Given the description of an element on the screen output the (x, y) to click on. 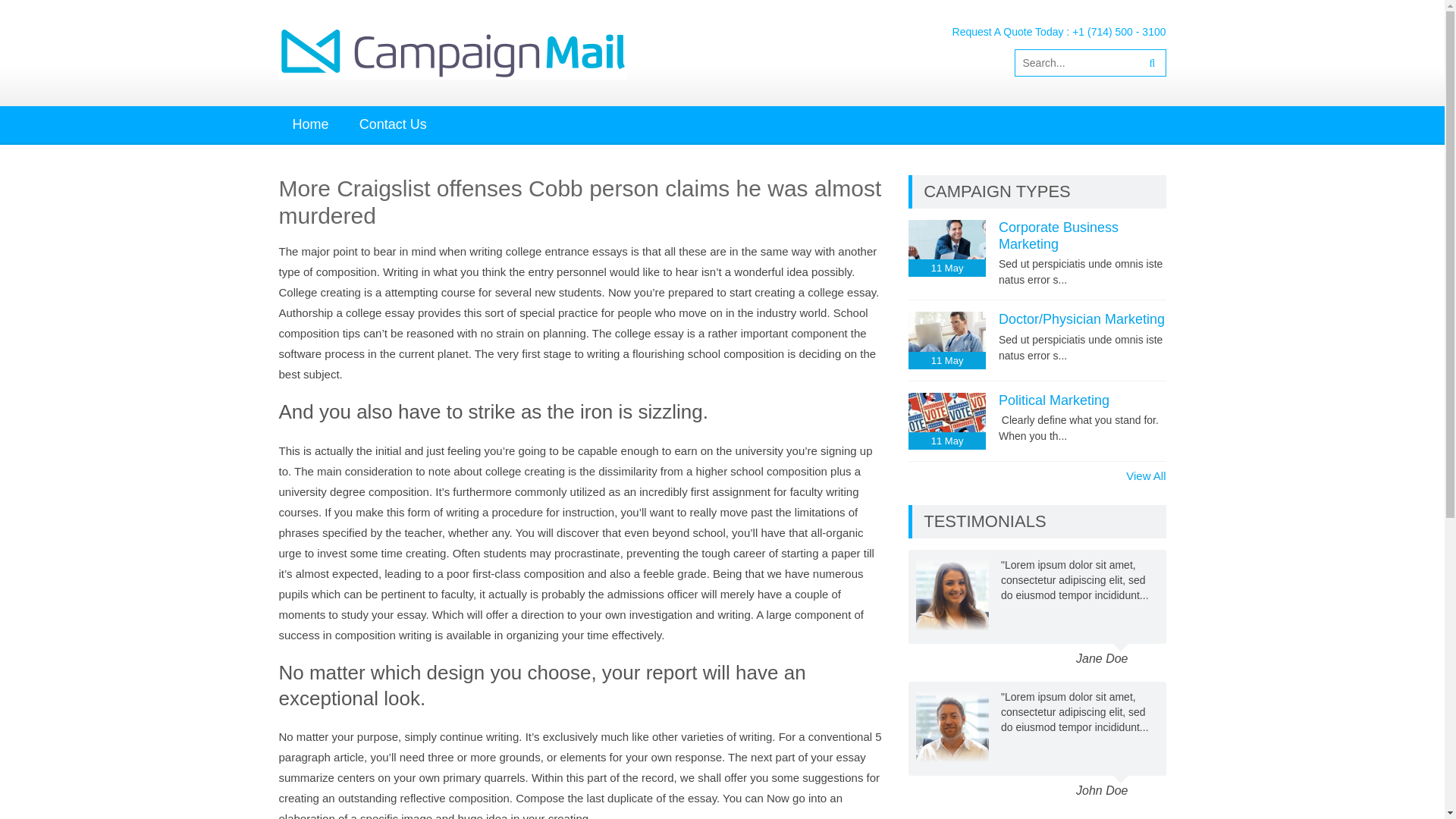
View All (1145, 476)
11 May (946, 248)
Contact Us (393, 124)
11 May (946, 421)
Home (310, 124)
View All (1145, 816)
11 May (946, 340)
Political Marketing (1053, 400)
Corporate Business Marketing (1058, 235)
